Given the description of an element on the screen output the (x, y) to click on. 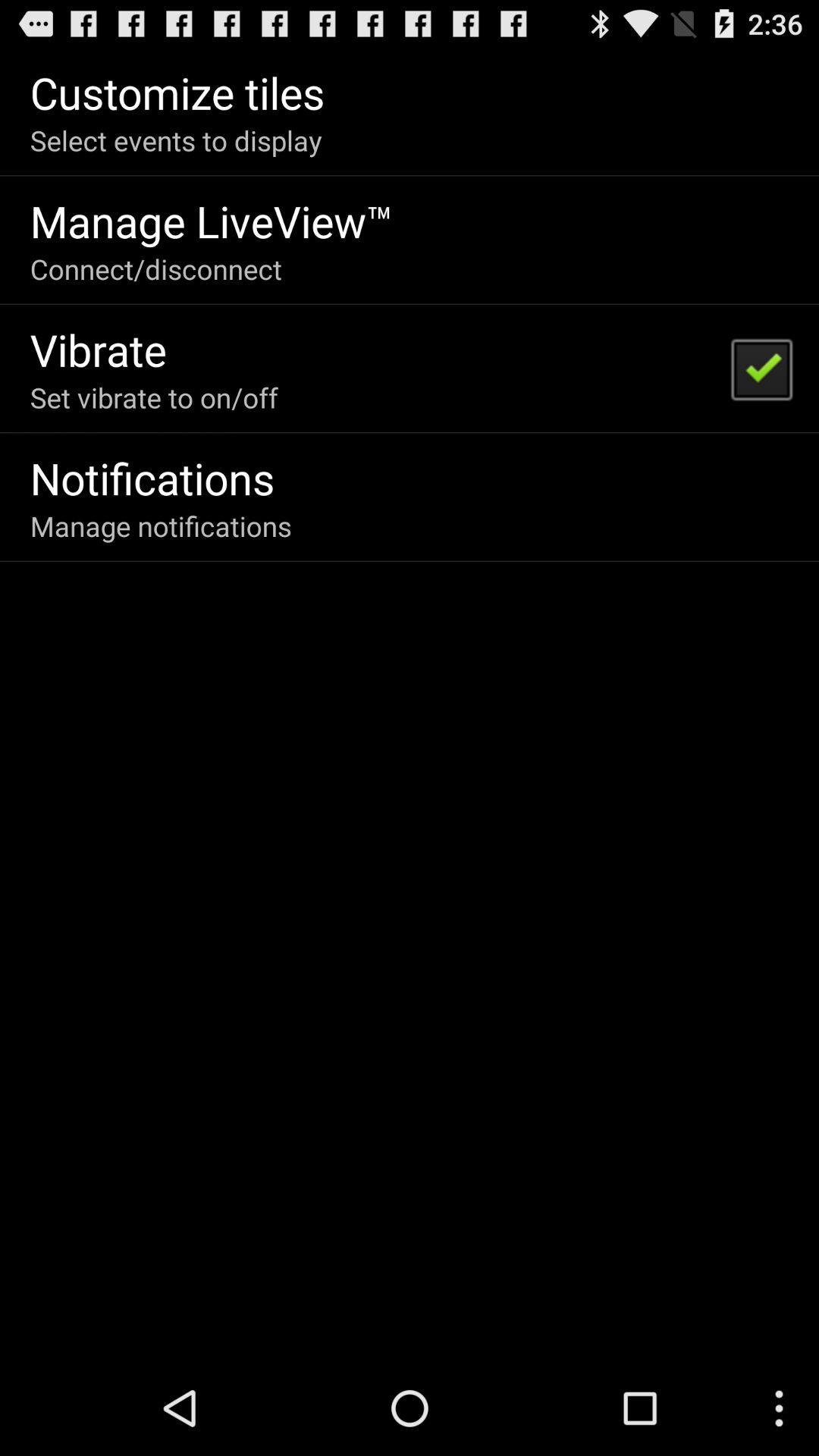
turn off the select events to app (175, 140)
